Given the description of an element on the screen output the (x, y) to click on. 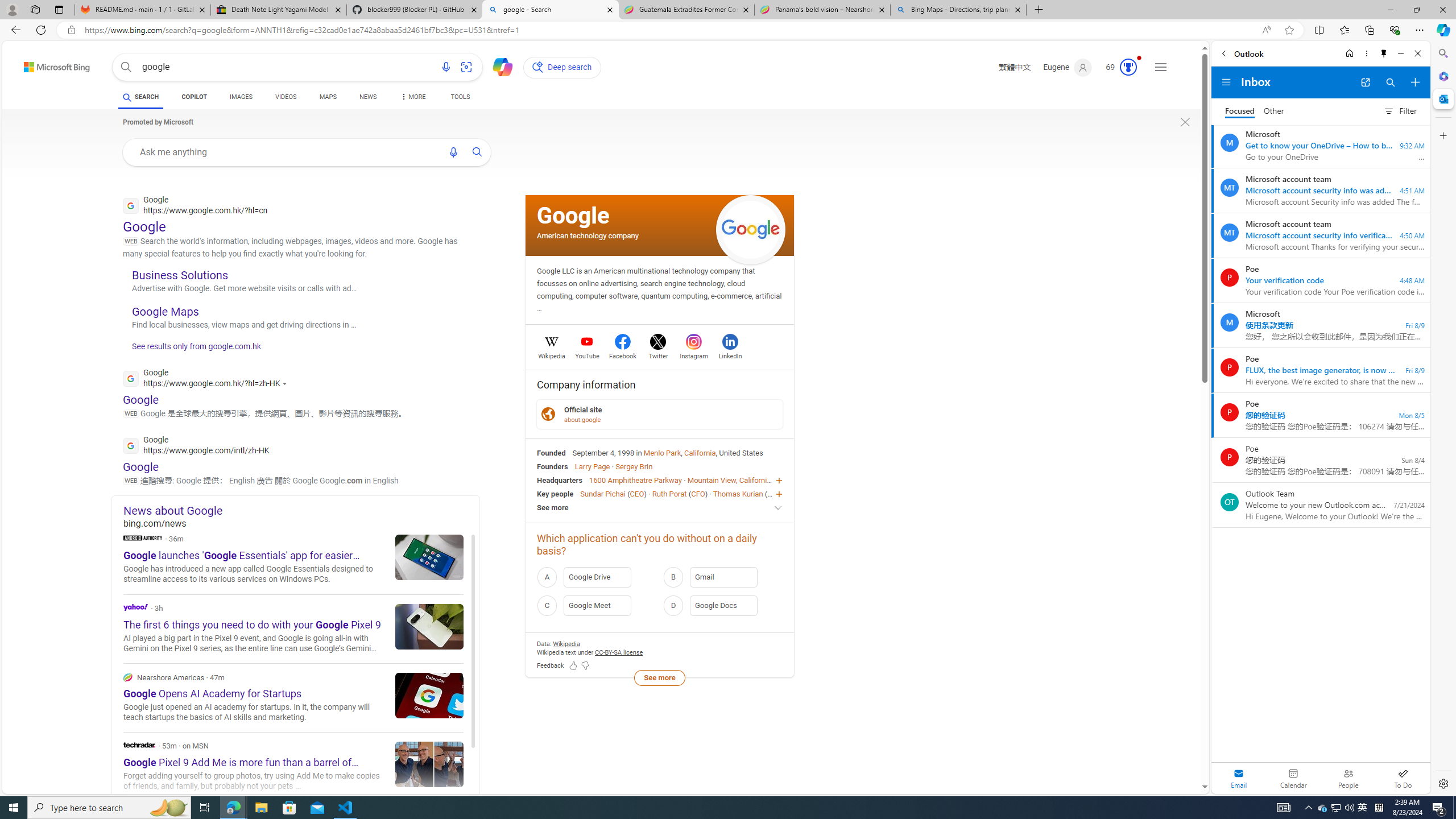
A Google Drive (596, 576)
Search (1442, 53)
VIDEOS (285, 96)
Calendar. Date today is 22 (1293, 777)
See more (660, 507)
Close tab (1017, 9)
Microsoft Rewards 69 (1118, 67)
Google Maps (165, 311)
Other (1273, 110)
CFO (697, 492)
NEWS (367, 98)
Refresh (40, 29)
